Given the description of an element on the screen output the (x, y) to click on. 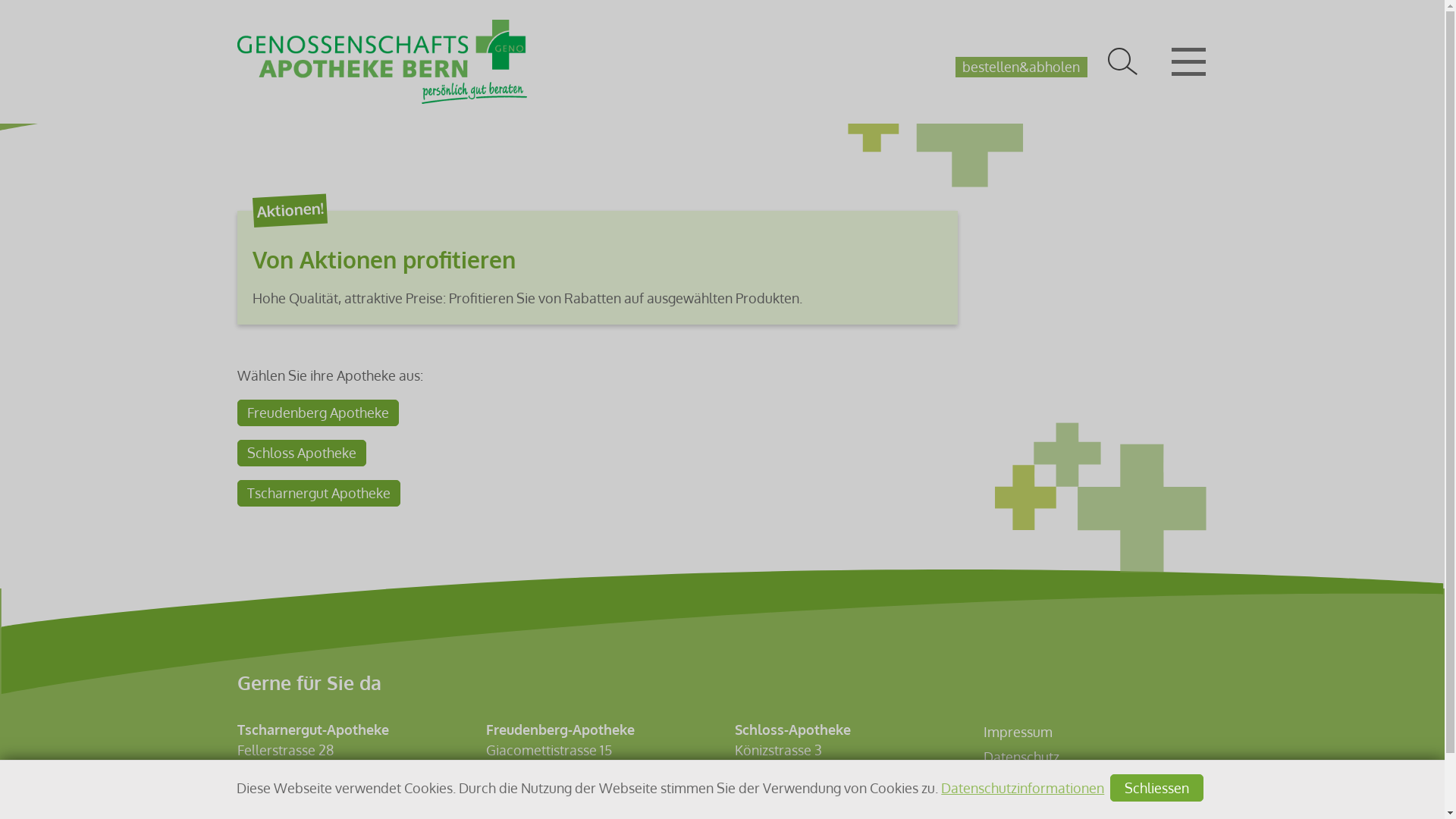
bestellen&abholen Element type: text (1020, 66)
Tel 031 381 88 36 Element type: text (785, 806)
Zur Startseite Element type: hover (381, 61)
Datenschutzinformationen Element type: text (1022, 787)
Tscharnergut-Apotheke Element type: text (1097, 65)
Tel 031 351 96 33 Element type: text (536, 806)
Schloss Apotheke Element type: text (300, 452)
Datenschutz Element type: text (1020, 756)
Impressum Element type: text (1016, 731)
Freudenberg Apotheke Element type: text (317, 412)
Tscharnergut Apotheke Element type: text (317, 493)
Tel 031 992 45 49 Element type: text (289, 806)
Schliessen Element type: text (1156, 787)
